Given the description of an element on the screen output the (x, y) to click on. 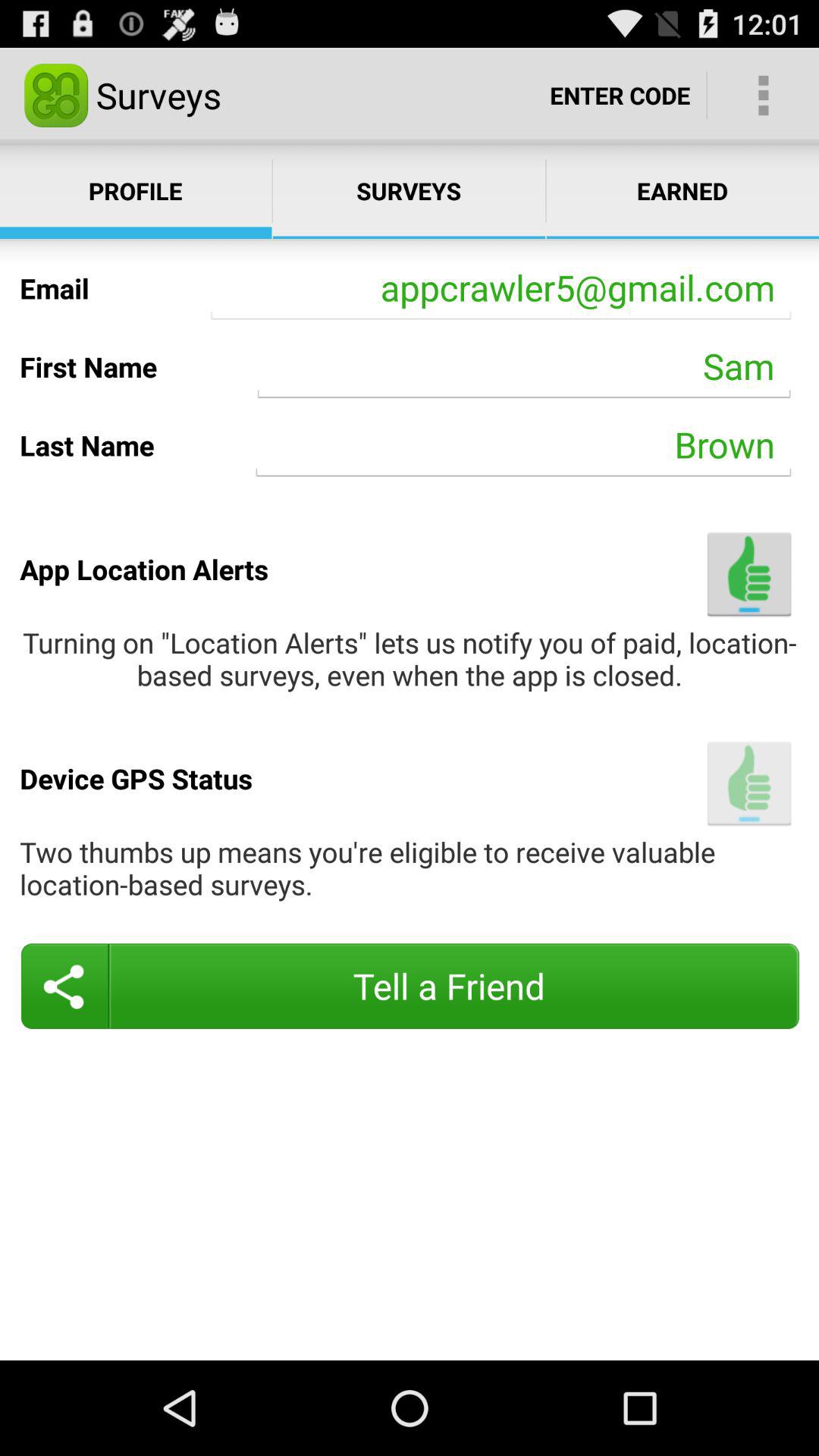
receive location based surveys (749, 783)
